Given the description of an element on the screen output the (x, y) to click on. 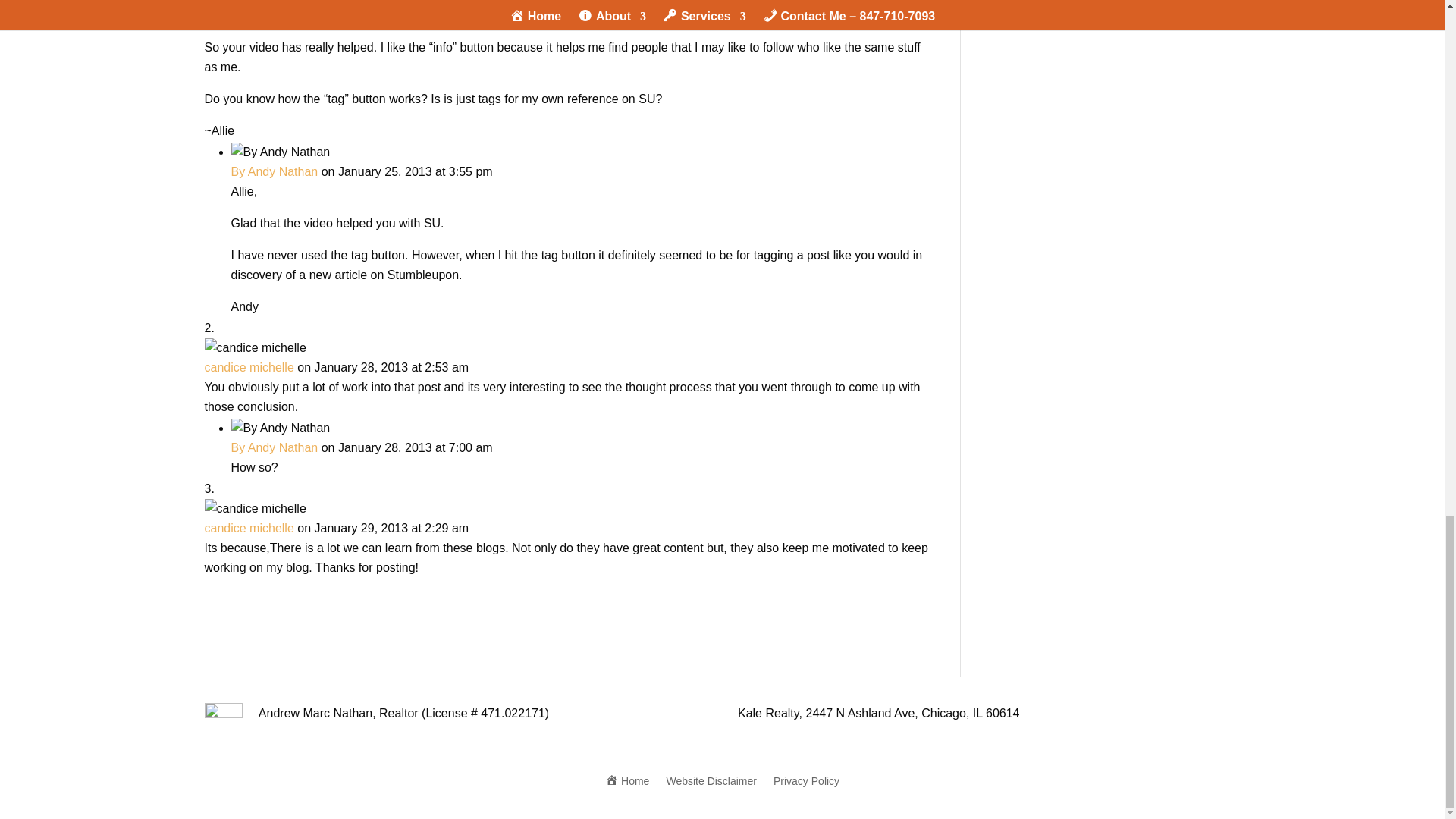
By Andy Nathan (273, 171)
Home (627, 777)
By Andy Nathan (273, 447)
Privacy Policy (806, 777)
Website Disclaimer (711, 777)
candice michelle (249, 367)
candice michelle (249, 527)
